Given the description of an element on the screen output the (x, y) to click on. 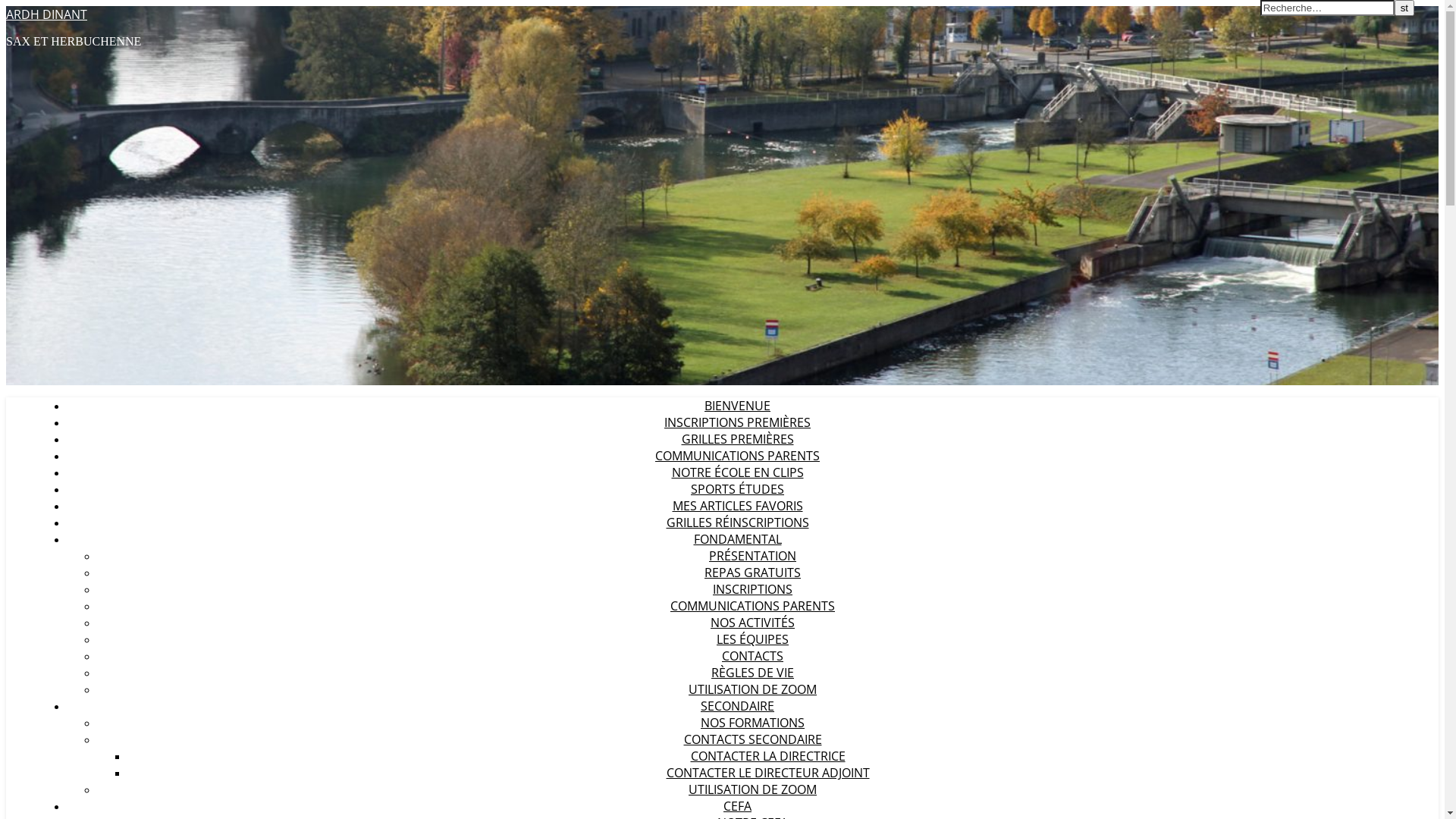
ARDH DINANT Element type: text (46, 14)
BIENVENUE Element type: text (737, 405)
INSCRIPTIONS Element type: text (752, 588)
UTILISATION DE ZOOM Element type: text (752, 688)
COMMUNICATIONS PARENTS Element type: text (752, 605)
FONDAMENTAL Element type: text (737, 538)
CONTACTS SECONDAIRE Element type: text (753, 739)
SECONDAIRE Element type: text (737, 705)
st Element type: text (1404, 7)
NOS FORMATIONS Element type: text (752, 722)
COMMUNICATIONS PARENTS Element type: text (737, 455)
UTILISATION DE ZOOM Element type: text (752, 789)
REPAS GRATUITS Element type: text (752, 572)
CEFA Element type: text (737, 805)
MES ARTICLES FAVORIS Element type: text (736, 505)
CONTACTER LE DIRECTEUR ADJOINT Element type: text (767, 772)
CONTACTER LA DIRECTRICE Element type: text (767, 755)
CONTACTS Element type: text (752, 655)
